Given the description of an element on the screen output the (x, y) to click on. 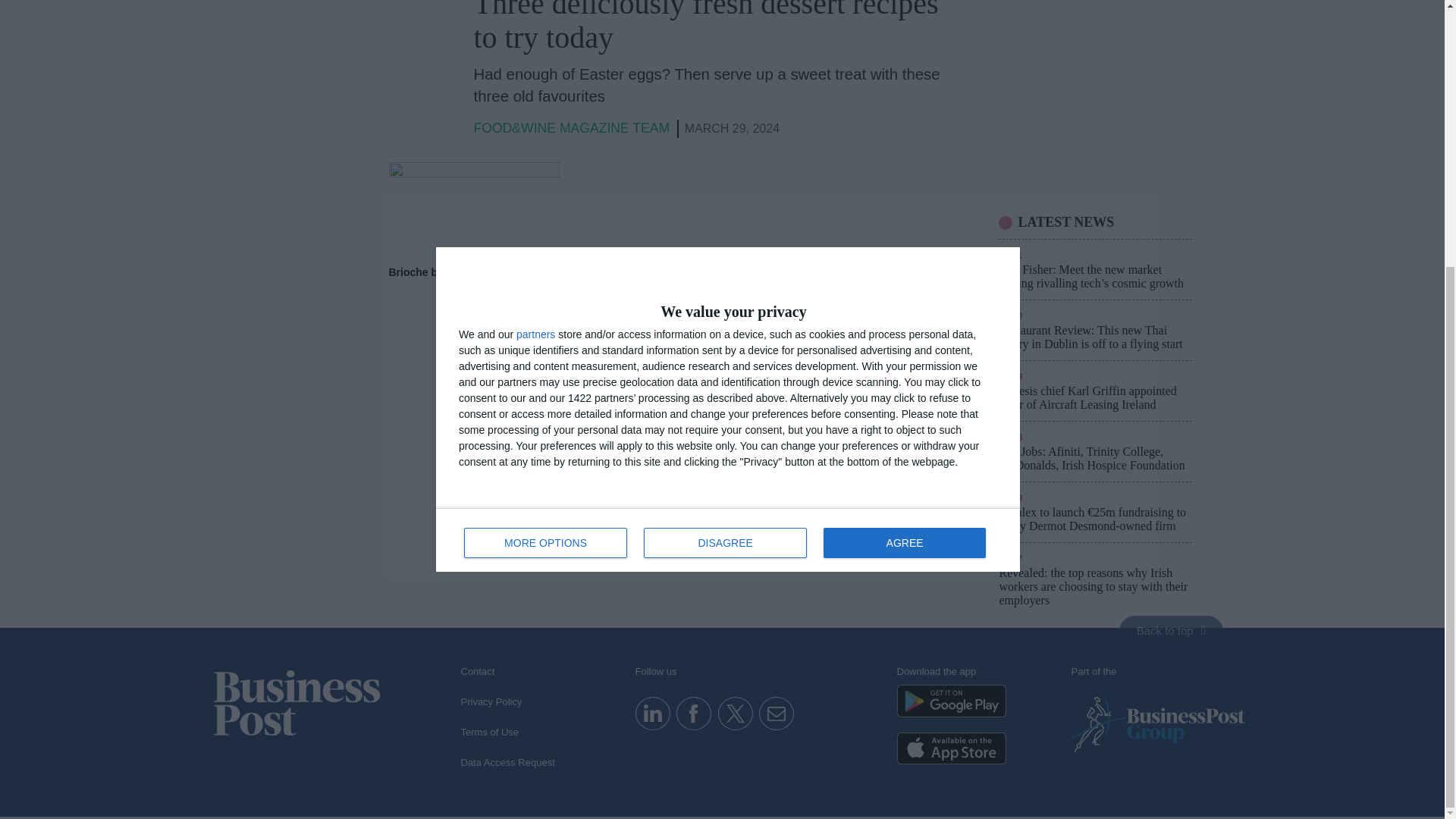
MORE OPTIONS (545, 155)
Twitter (735, 712)
Email (775, 712)
Facebook (693, 712)
AGREE (904, 155)
DISAGREE (724, 155)
Linkedin (652, 712)
